Given the description of an element on the screen output the (x, y) to click on. 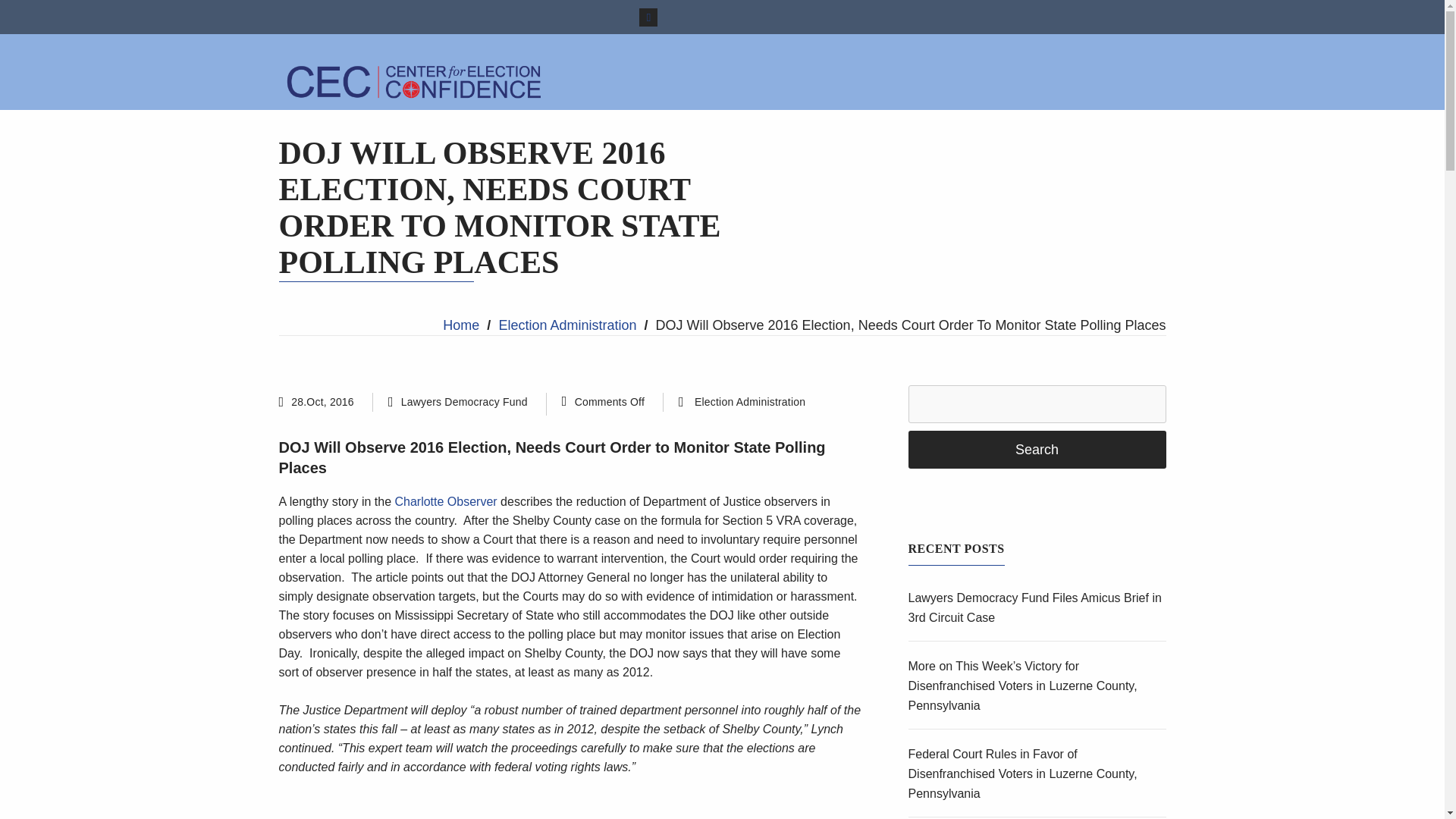
Search (1037, 449)
Lawyers Democracy Fund (464, 401)
Search (1037, 449)
Home (460, 324)
Election Administration (749, 402)
Lawyers Democracy Fund Is Now Center for Election Confidence (415, 81)
Election Administration (566, 324)
Charlotte Observer (447, 501)
Posts by Lawyers Democracy Fund (464, 401)
